Given the description of an element on the screen output the (x, y) to click on. 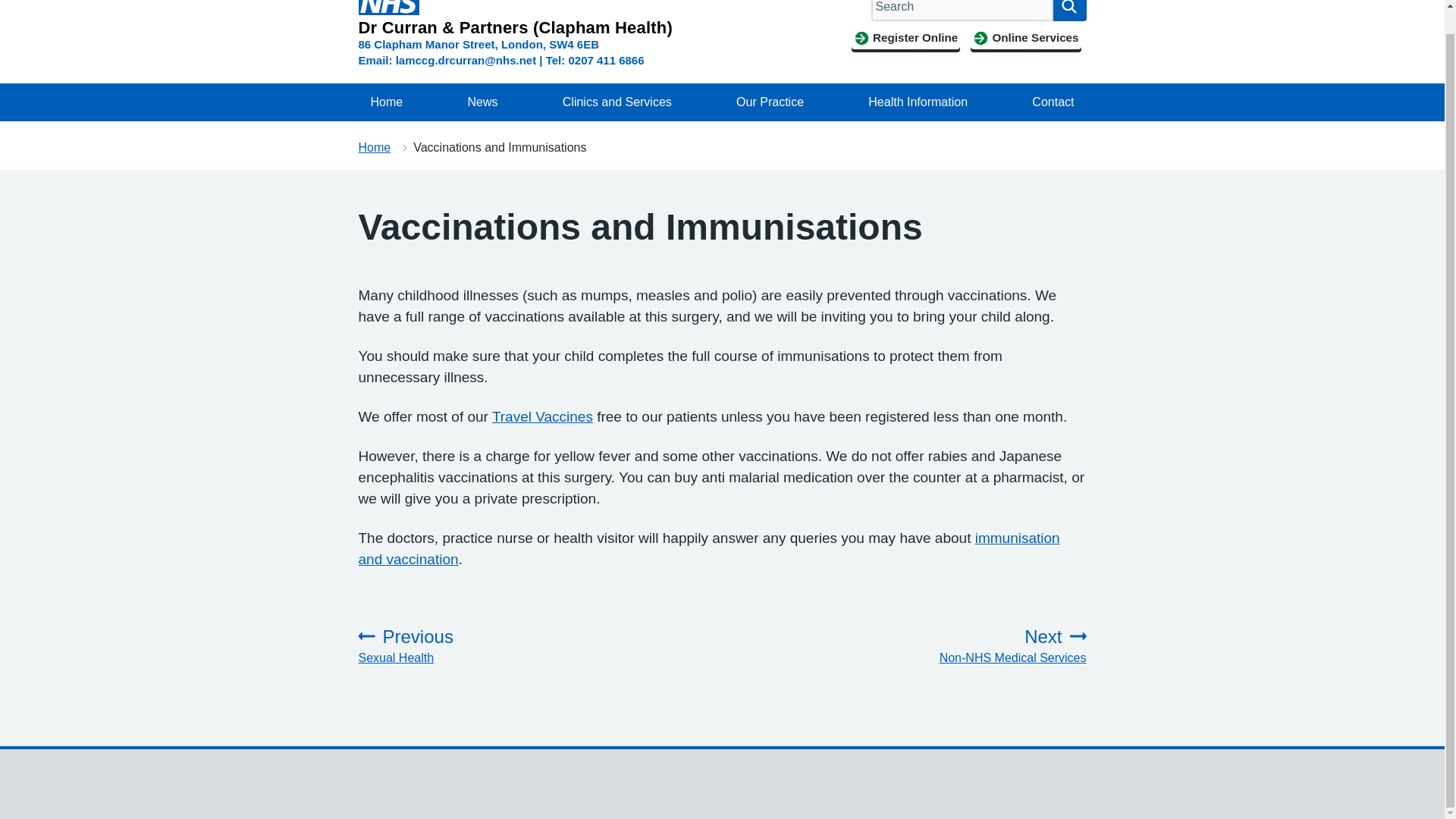
Home (976, 645)
Travel Vaccines (374, 146)
Search (542, 416)
Clinics and Services (1069, 10)
Health Information (617, 102)
NHS Logo (917, 102)
Our Practice (388, 7)
immunisation and vaccination (769, 102)
